Given the description of an element on the screen output the (x, y) to click on. 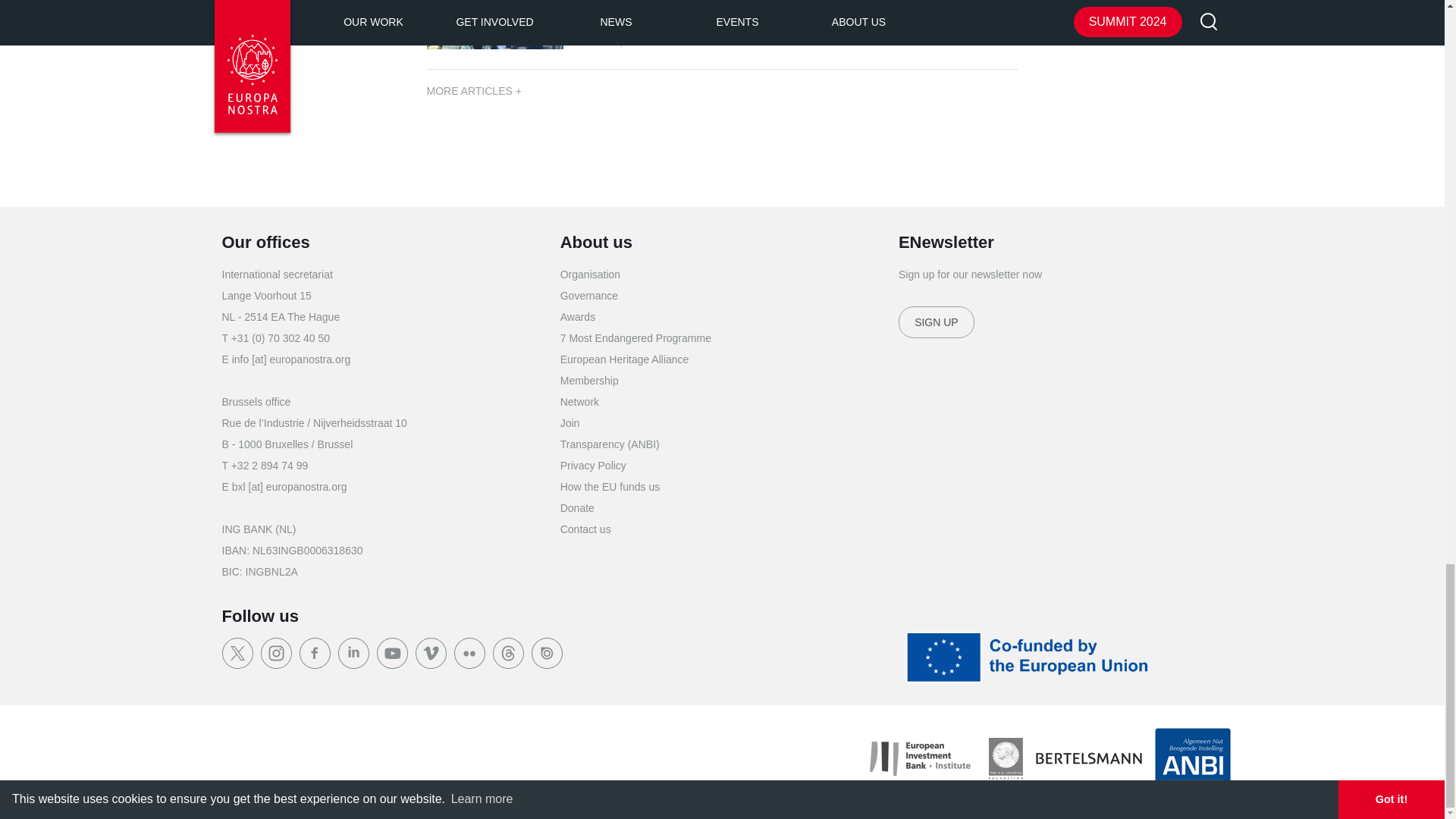
ANBI (1192, 758)
EIB Institute (919, 758)
Bertelsmann (1088, 758)
